Given the description of an element on the screen output the (x, y) to click on. 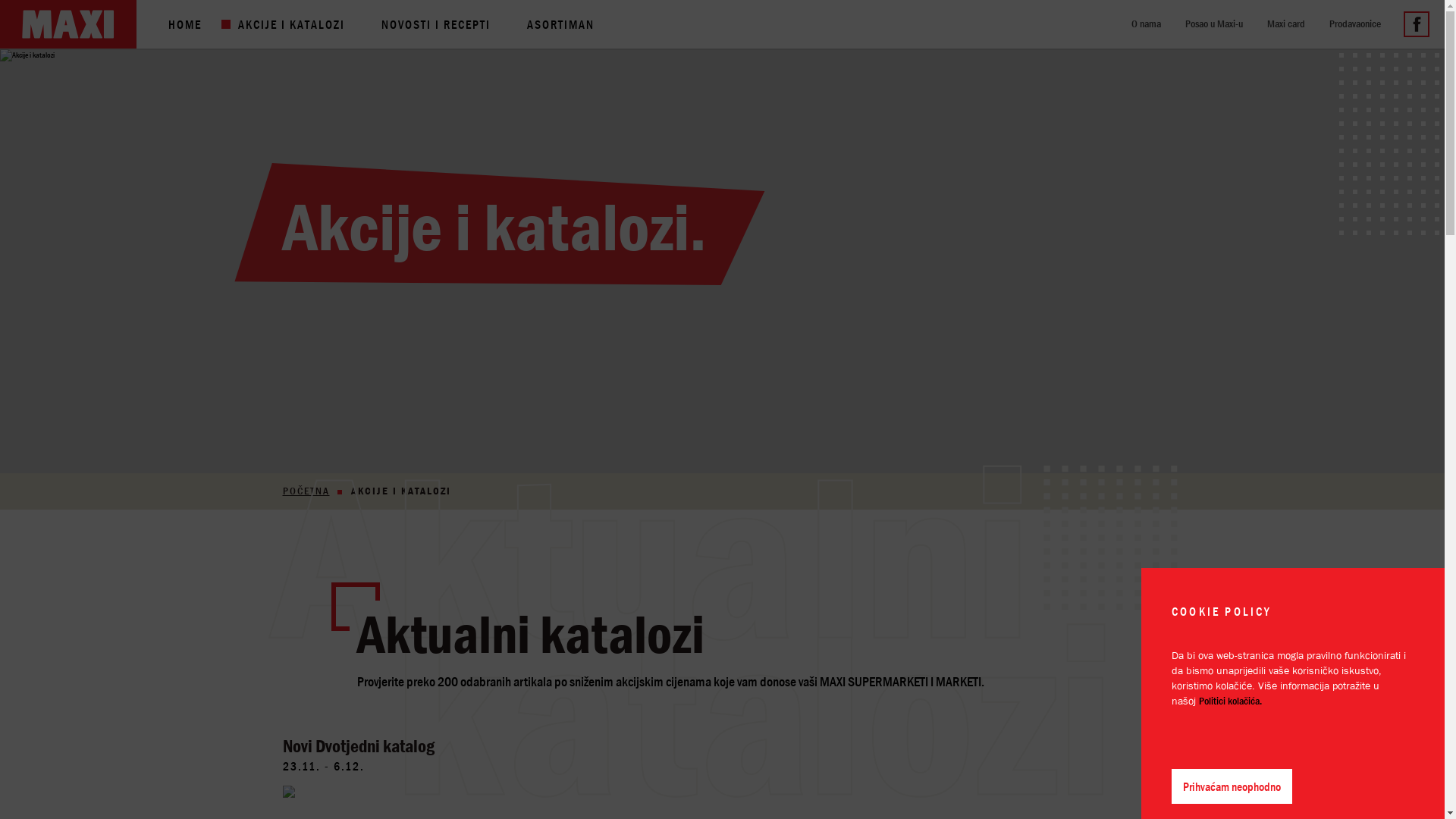
ASORTIMAN Element type: text (562, 24)
NOVOSTI I RECEPTI Element type: text (437, 24)
AKCIJE I KATALOZI Element type: text (292, 24)
Prodavaonice Element type: text (1356, 23)
Posao u Maxi-u Element type: text (1215, 23)
Maxi card Element type: text (1287, 23)
O nama Element type: text (1147, 23)
HOME Element type: text (186, 24)
